Given the description of an element on the screen output the (x, y) to click on. 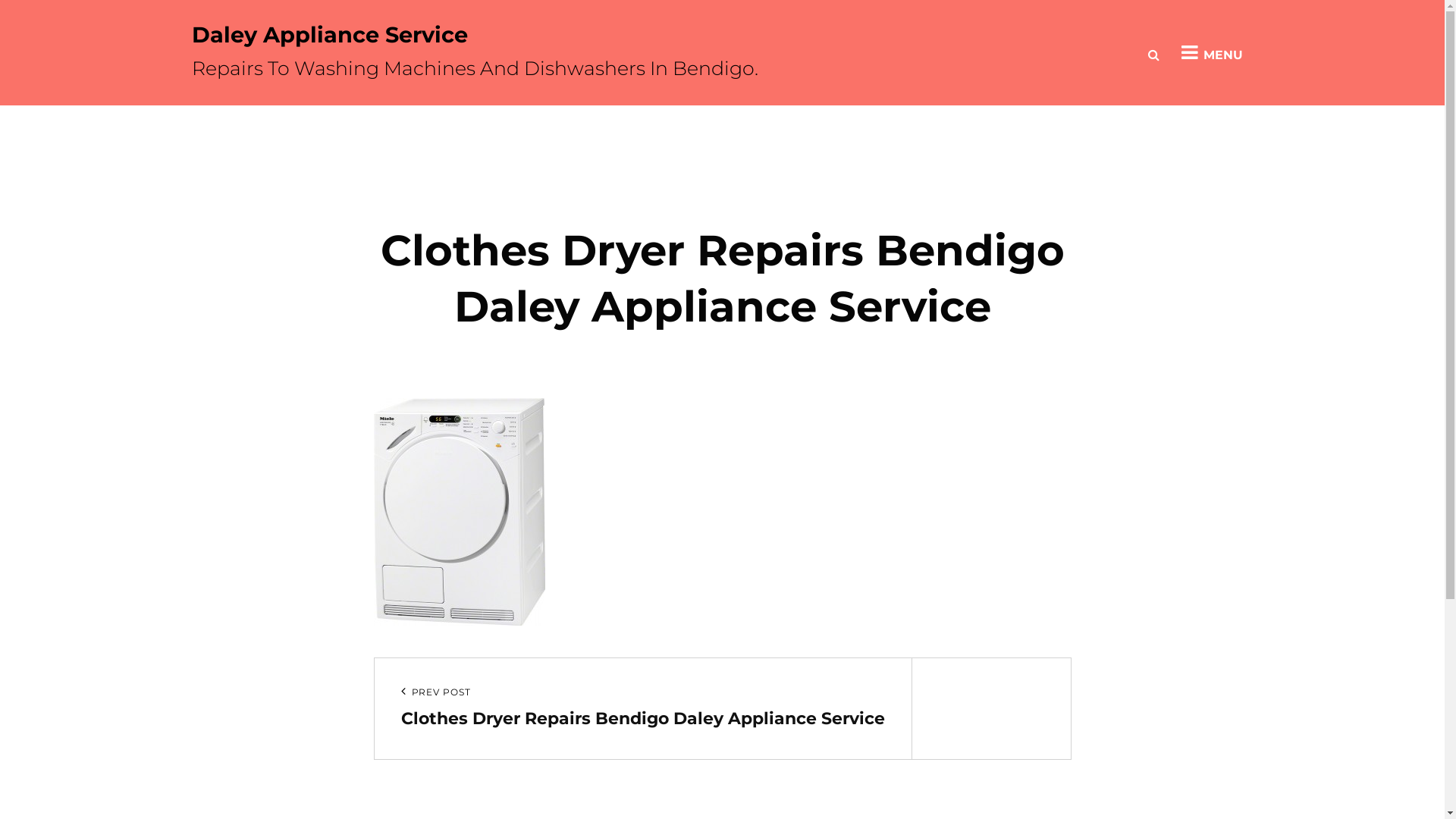
Daley Appliance Service Element type: text (329, 34)
SEARCH Element type: text (1153, 52)
MENU Element type: text (1211, 52)
